Given the description of an element on the screen output the (x, y) to click on. 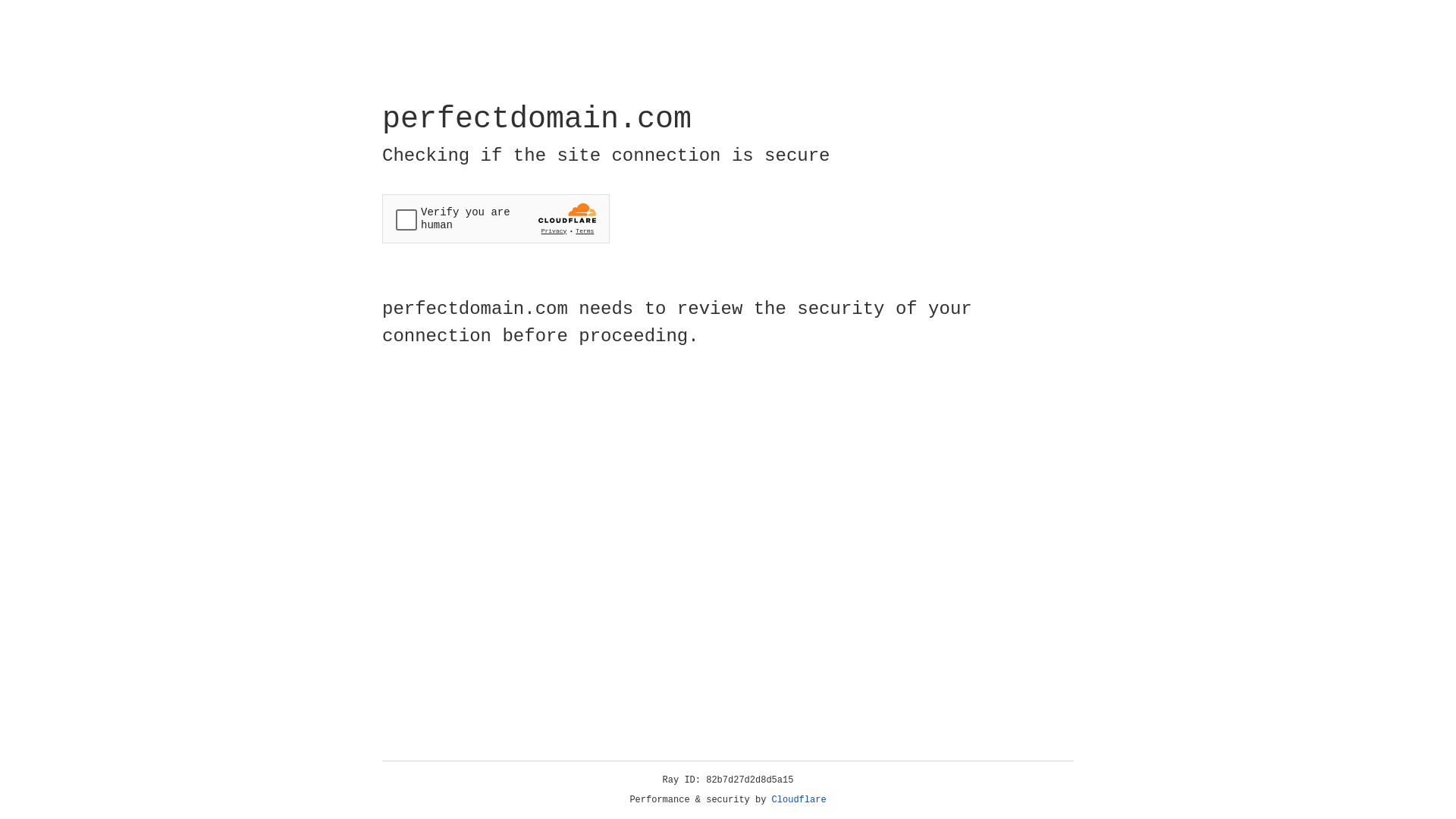
Cloudflare Element type: text (798, 799)
Widget containing a Cloudflare security challenge Element type: hover (495, 218)
